Given the description of an element on the screen output the (x, y) to click on. 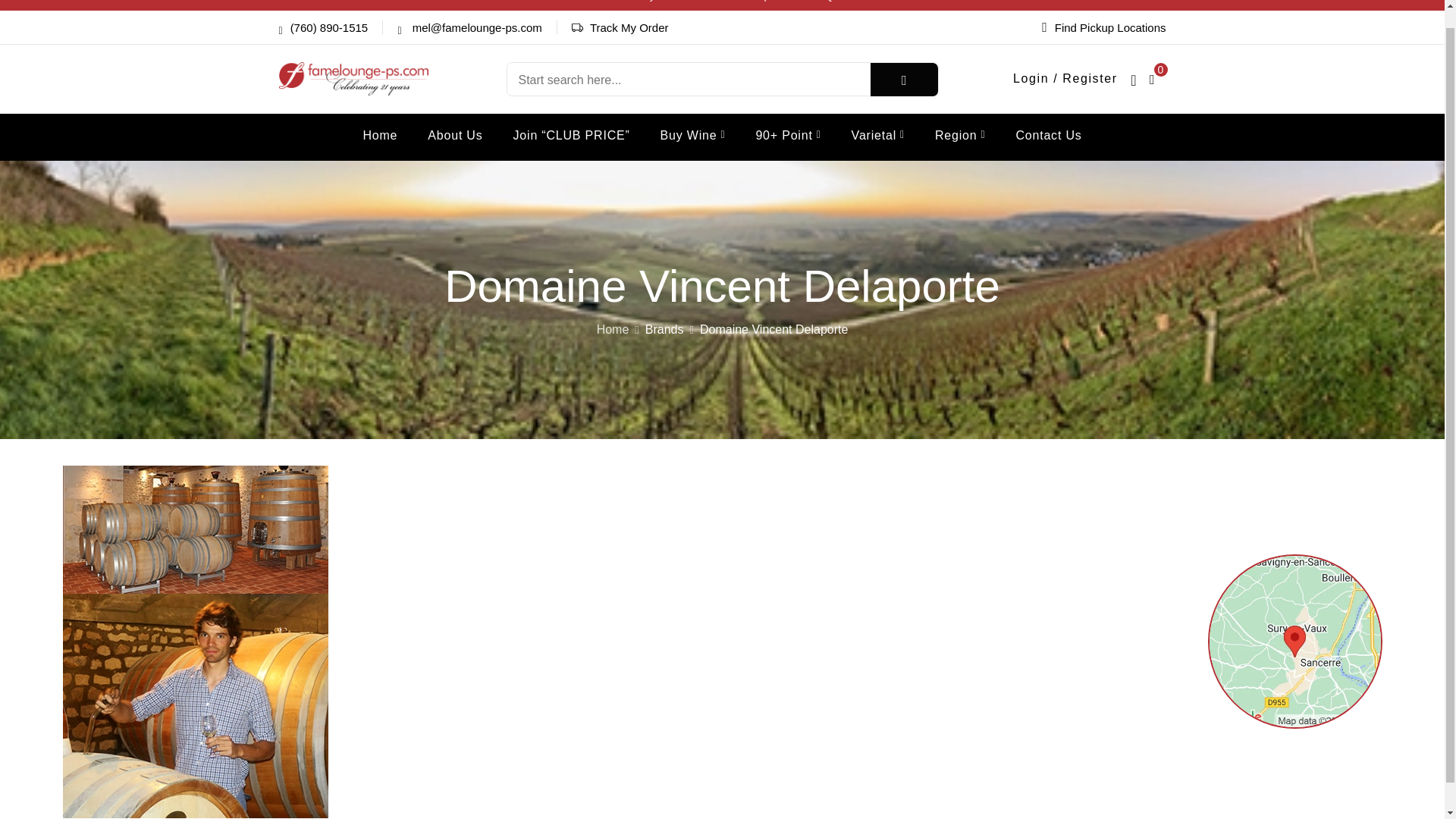
Home (379, 135)
Find Pickup Locations (1104, 26)
About Us (454, 135)
Buy Wine (693, 135)
Search (903, 79)
Varietal (877, 135)
Track My Order (628, 26)
